Given the description of an element on the screen output the (x, y) to click on. 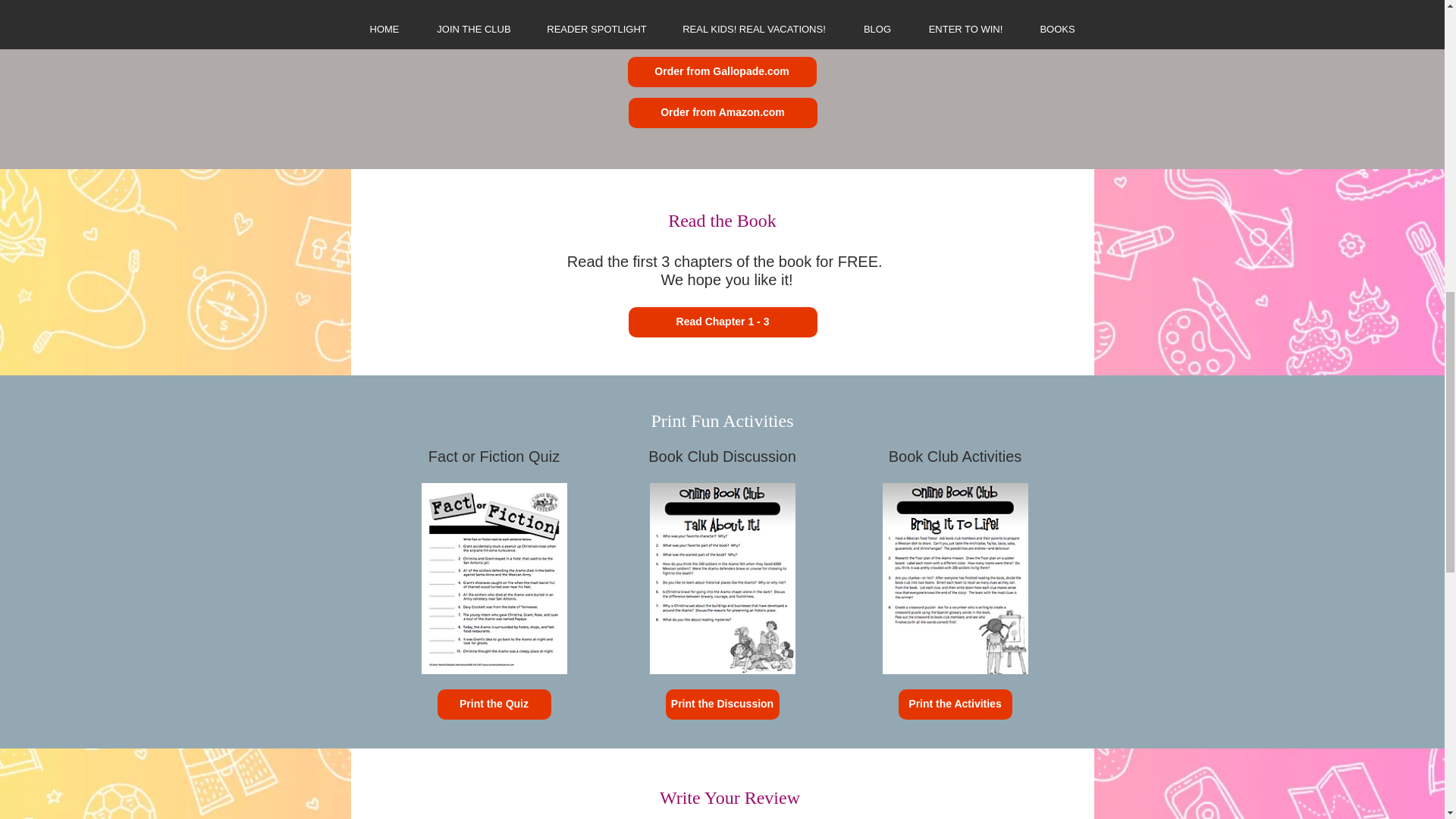
Order from Amazon.com (721, 112)
Print the Quiz (493, 704)
Order from Gallopade.com (721, 71)
Print the Discussion (721, 704)
Read Chapter 1 - 3 (721, 322)
Print the Activities (954, 704)
